Given the description of an element on the screen output the (x, y) to click on. 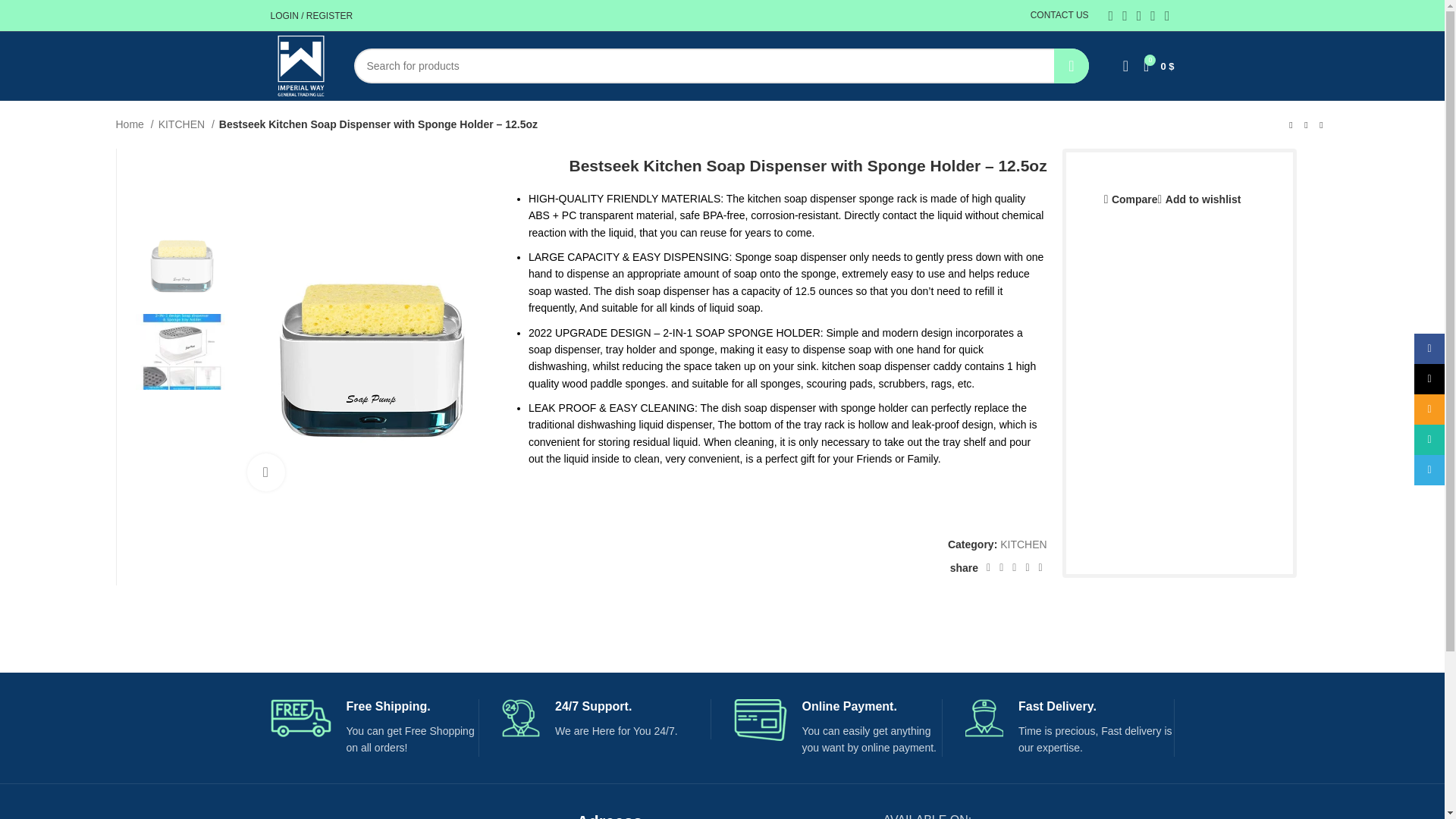
KITCHEN (1023, 544)
Shopping cart (1157, 65)
KITCHEN (186, 124)
SEARCH (1071, 65)
23 (651, 366)
Search for products (720, 65)
Log in (395, 245)
My account (310, 15)
22 (370, 366)
Home (133, 124)
CONTACT US (1059, 15)
